Given the description of an element on the screen output the (x, y) to click on. 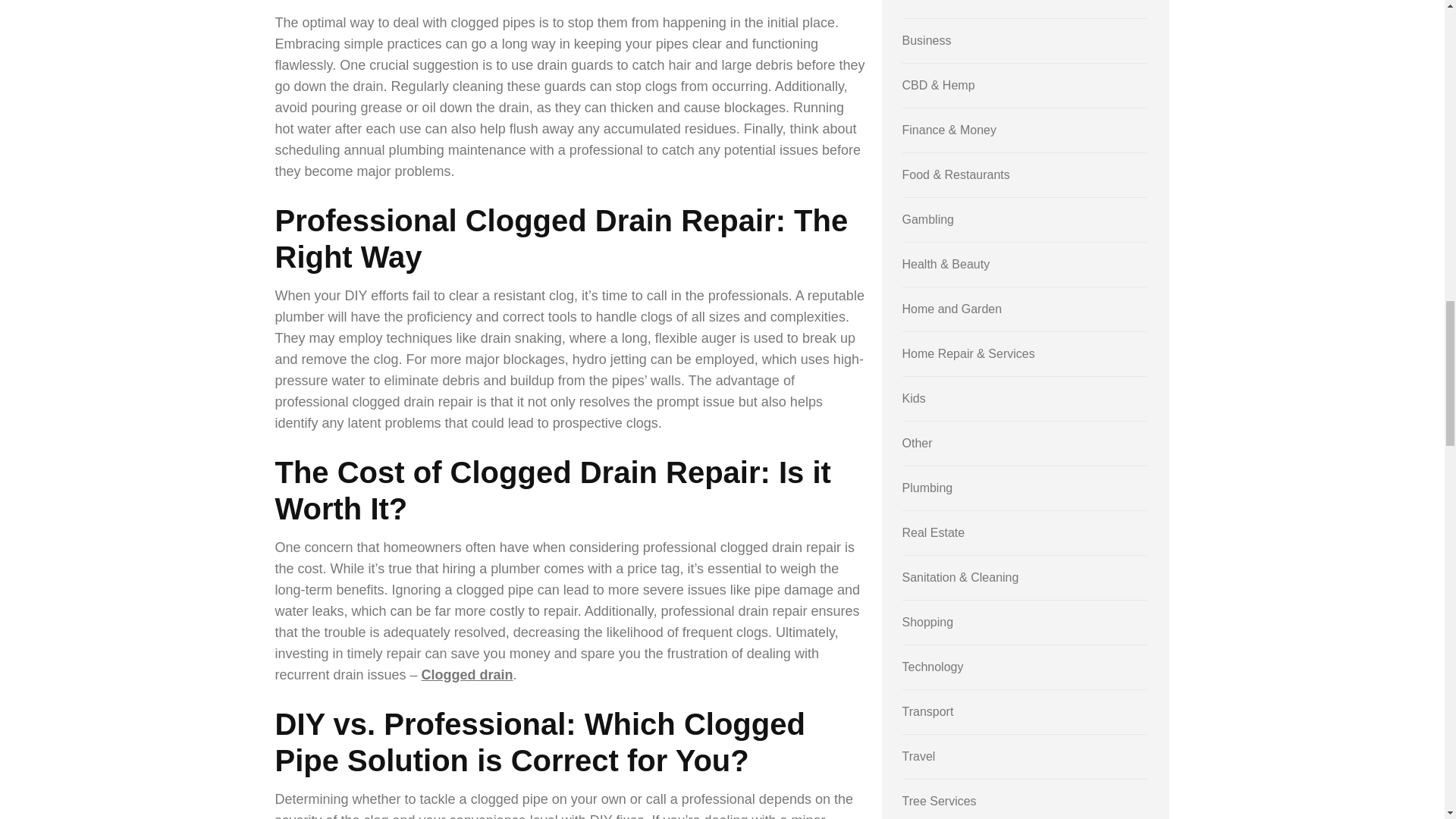
Clogged drain (467, 674)
